Given the description of an element on the screen output the (x, y) to click on. 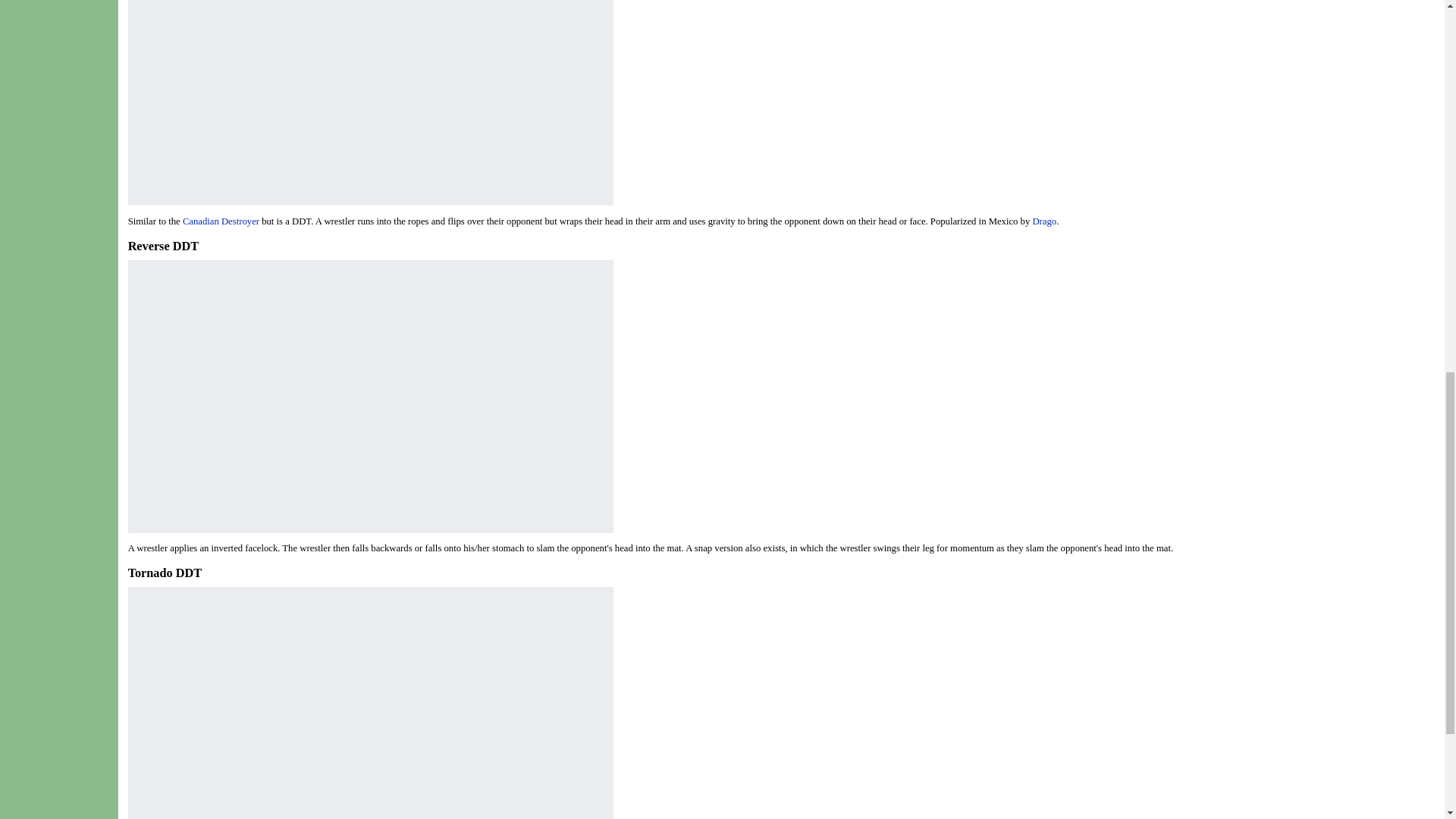
Canadian Destroyer (221, 220)
Canadian Destroyer (221, 220)
Drago (1044, 220)
